Given the description of an element on the screen output the (x, y) to click on. 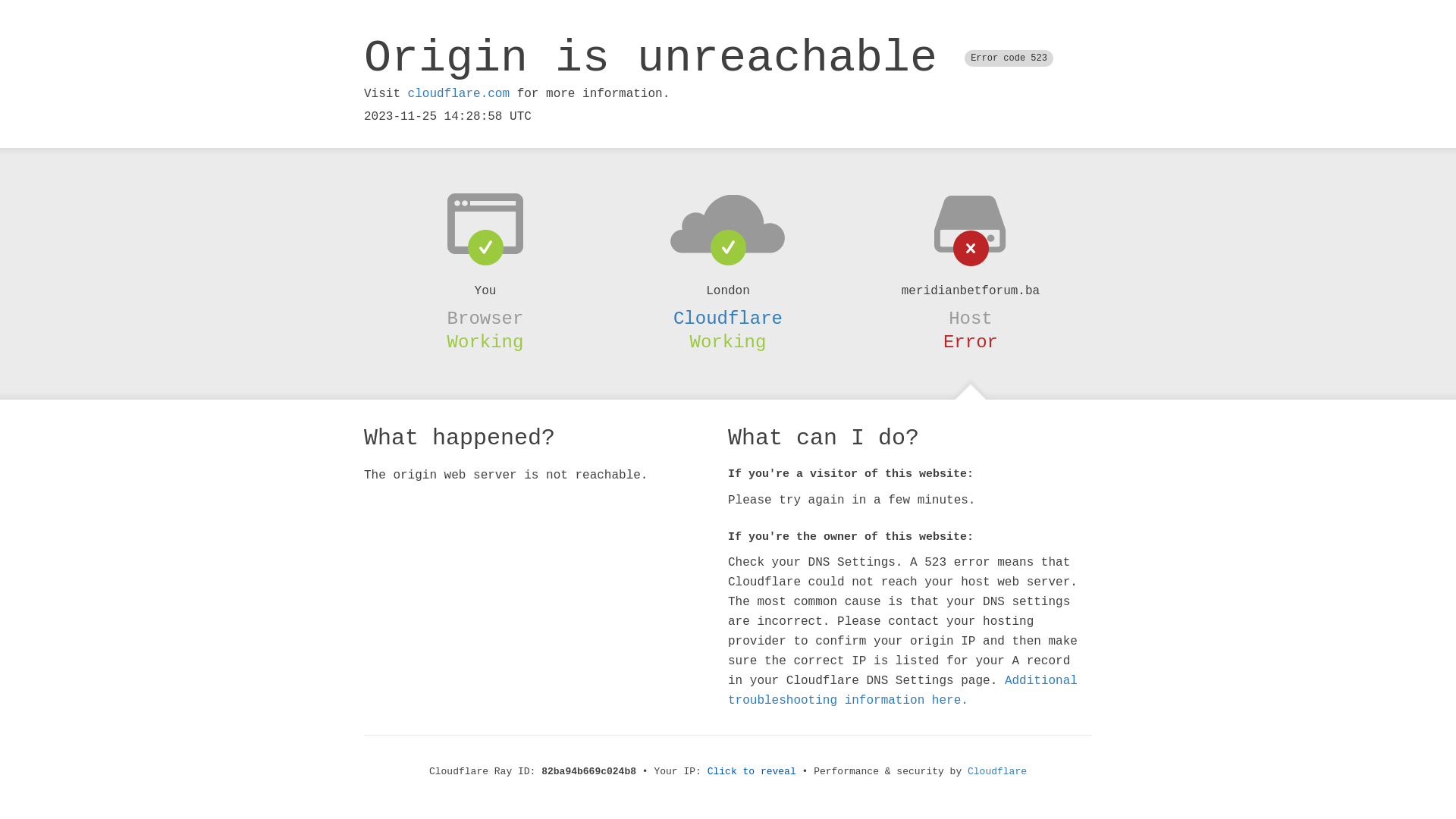
Cloudflare Element type: text (727, 318)
Cloudflare Element type: text (996, 771)
Additional troubleshooting information here. Element type: text (902, 690)
cloudflare.com Element type: text (458, 93)
Click to reveal Element type: text (751, 771)
